Given the description of an element on the screen output the (x, y) to click on. 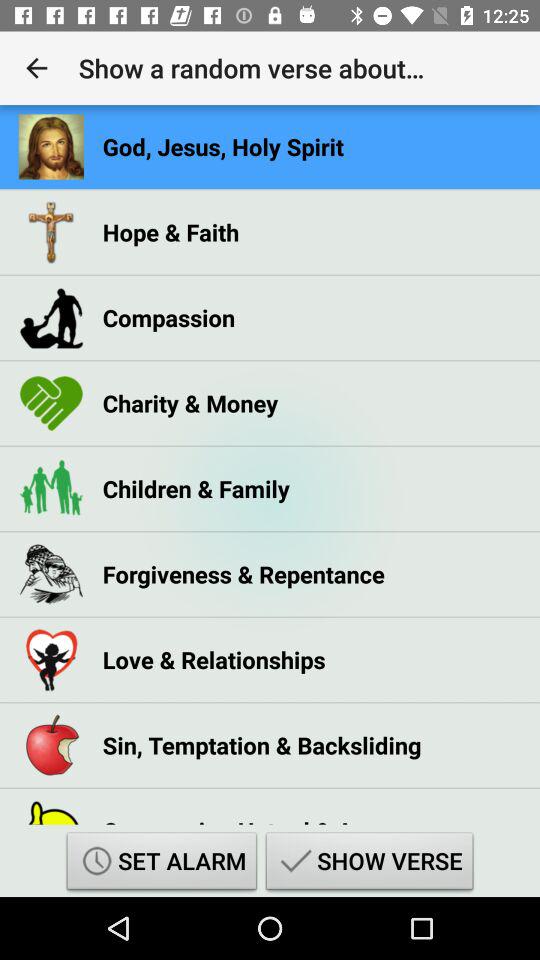
press the compassion icon (168, 317)
